Given the description of an element on the screen output the (x, y) to click on. 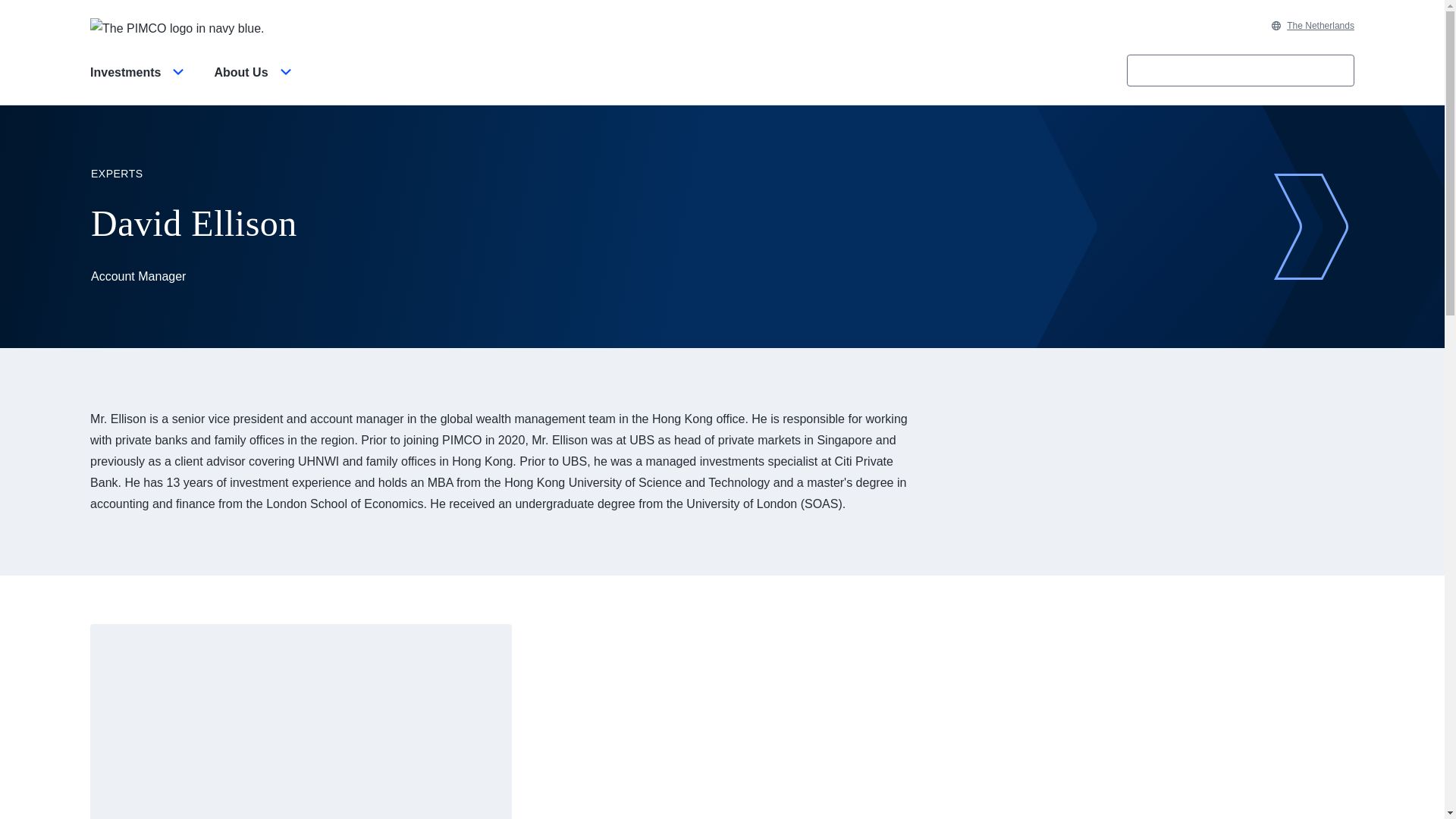
Investments (139, 84)
About Us (255, 84)
PIMCO Home (176, 27)
The Netherlands (1312, 25)
